Given the description of an element on the screen output the (x, y) to click on. 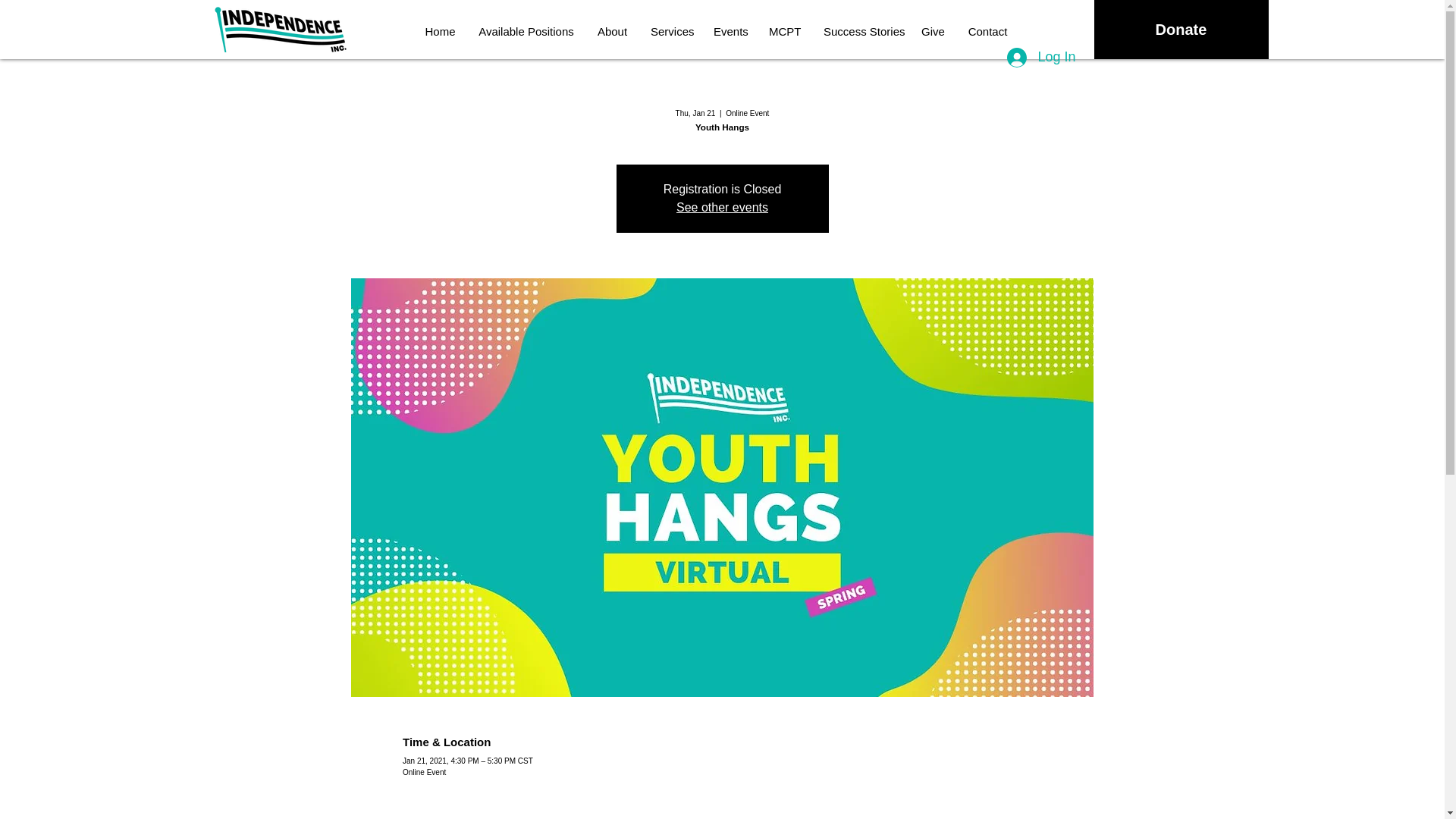
See other events (722, 206)
Services (670, 31)
Home (440, 31)
About (612, 31)
Success Stories (861, 31)
MCPT (784, 31)
Log In (1040, 57)
Events (729, 31)
Donate (1180, 29)
Available Positions (526, 31)
Contact (987, 31)
